Given the description of an element on the screen output the (x, y) to click on. 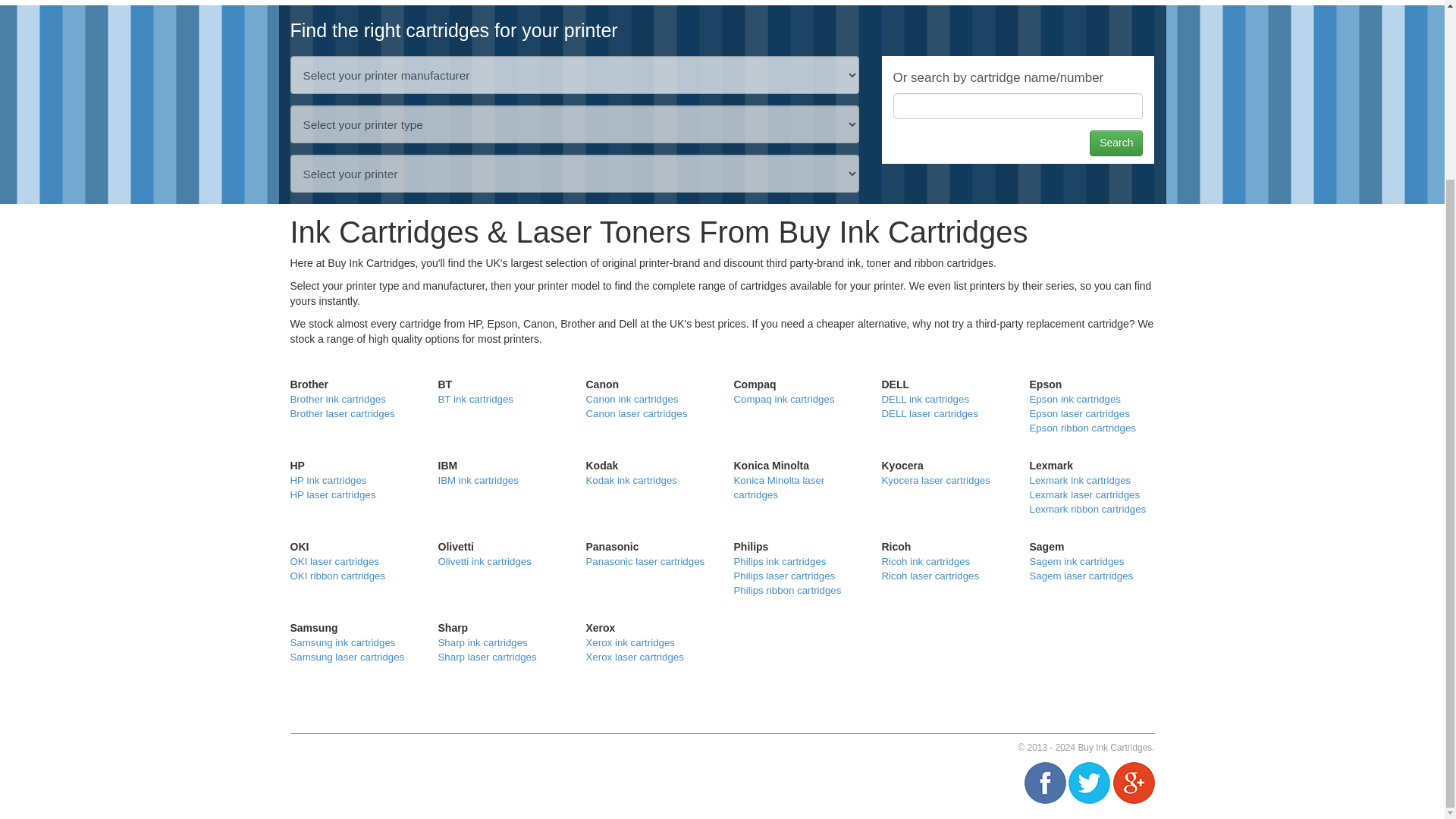
Compaq ink cartridges (783, 398)
Olivetti ink cartridges (484, 561)
OKI ribbon cartridges (337, 575)
Search (1115, 143)
IBM ink cartridges (478, 480)
HP ink cartridges (327, 480)
Konica Minolta laser cartridges (779, 487)
Canon ink cartridges (631, 398)
Lexmark laser cartridges (1084, 494)
BT ink cartridges (475, 398)
Kyocera laser cartridges (935, 480)
Epson laser cartridges (1079, 413)
OKI laser cartridges (333, 561)
Epson ribbon cartridges (1082, 428)
HP laser cartridges (332, 494)
